Given the description of an element on the screen output the (x, y) to click on. 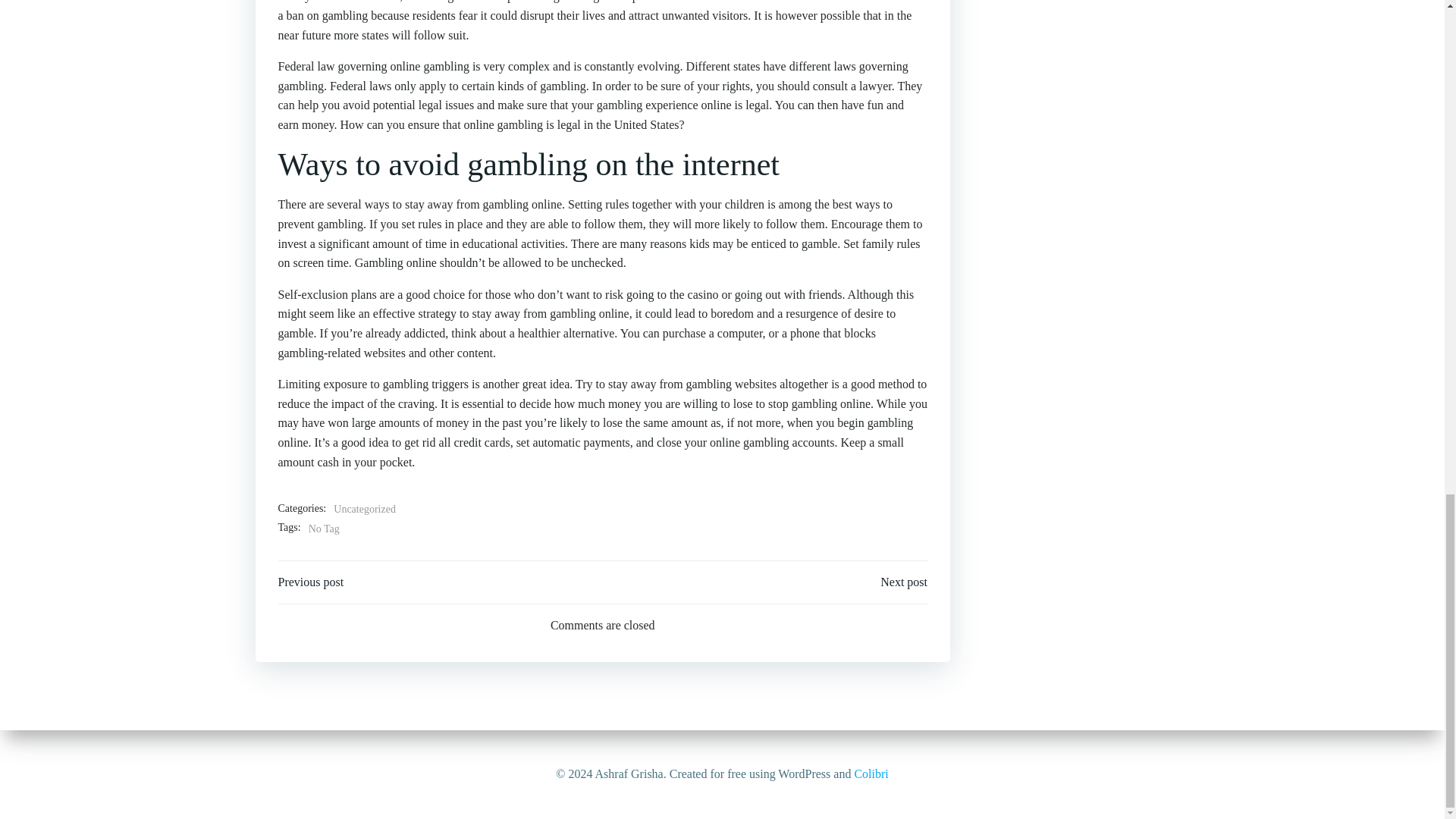
Next post (903, 582)
Previous post (310, 582)
Uncategorized (364, 509)
